Given the description of an element on the screen output the (x, y) to click on. 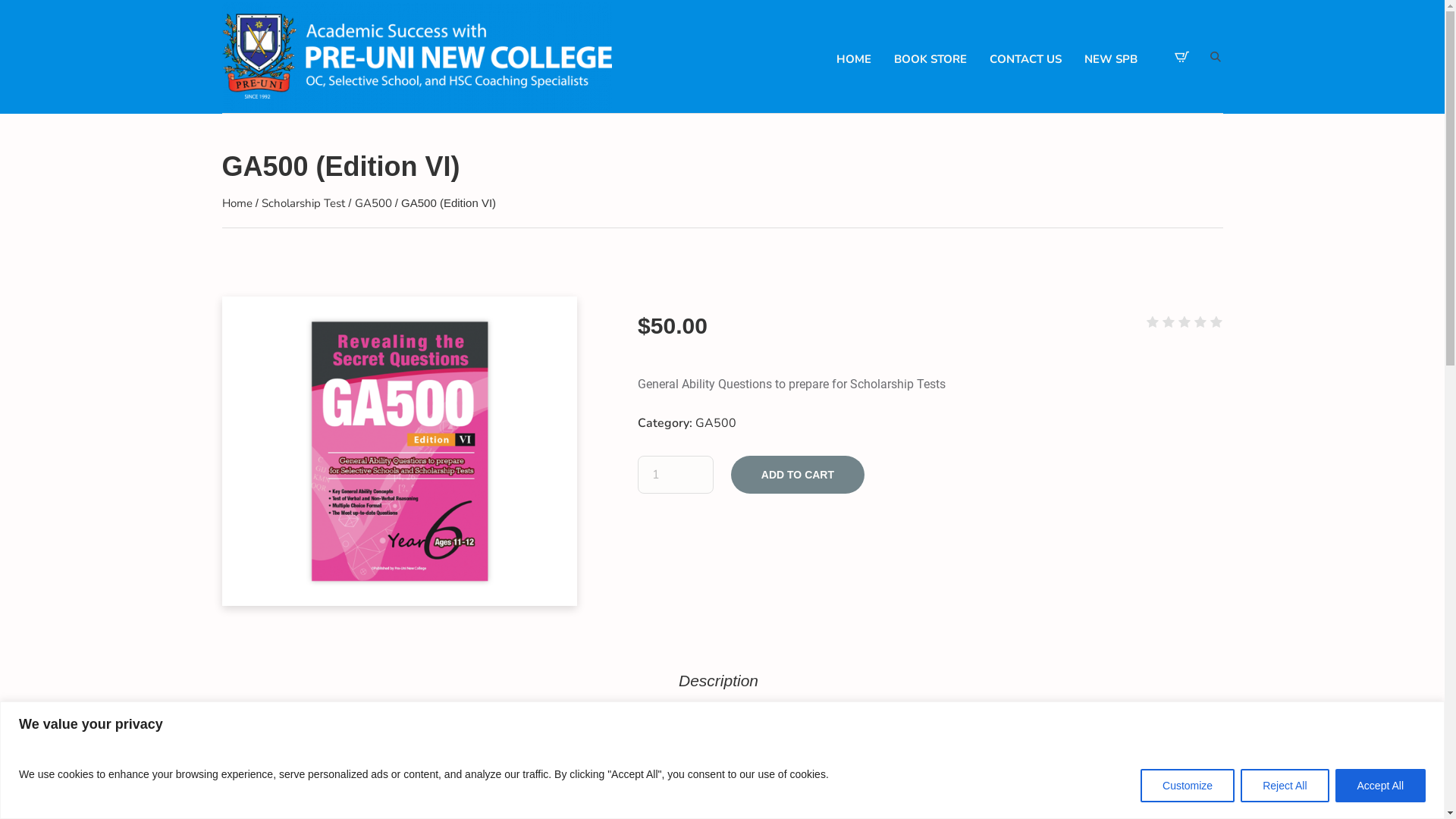
NEW SPB Element type: text (1110, 58)
GA500 Element type: text (715, 422)
HOME Element type: text (852, 58)
Rated 0 out of 5 Element type: hover (1184, 322)
Accept All Element type: text (1380, 785)
Reject All Element type: text (1284, 785)
ADD TO CART Element type: text (797, 474)
Customize Element type: text (1187, 785)
GA500 Element type: text (373, 202)
CONTACT US Element type: text (1024, 58)
GA500-v6 Element type: hover (399, 450)
Home Element type: text (236, 202)
Description Element type: text (718, 683)
BOOK STORE Element type: text (929, 58)
Scholarship Test Element type: text (303, 202)
